Given the description of an element on the screen output the (x, y) to click on. 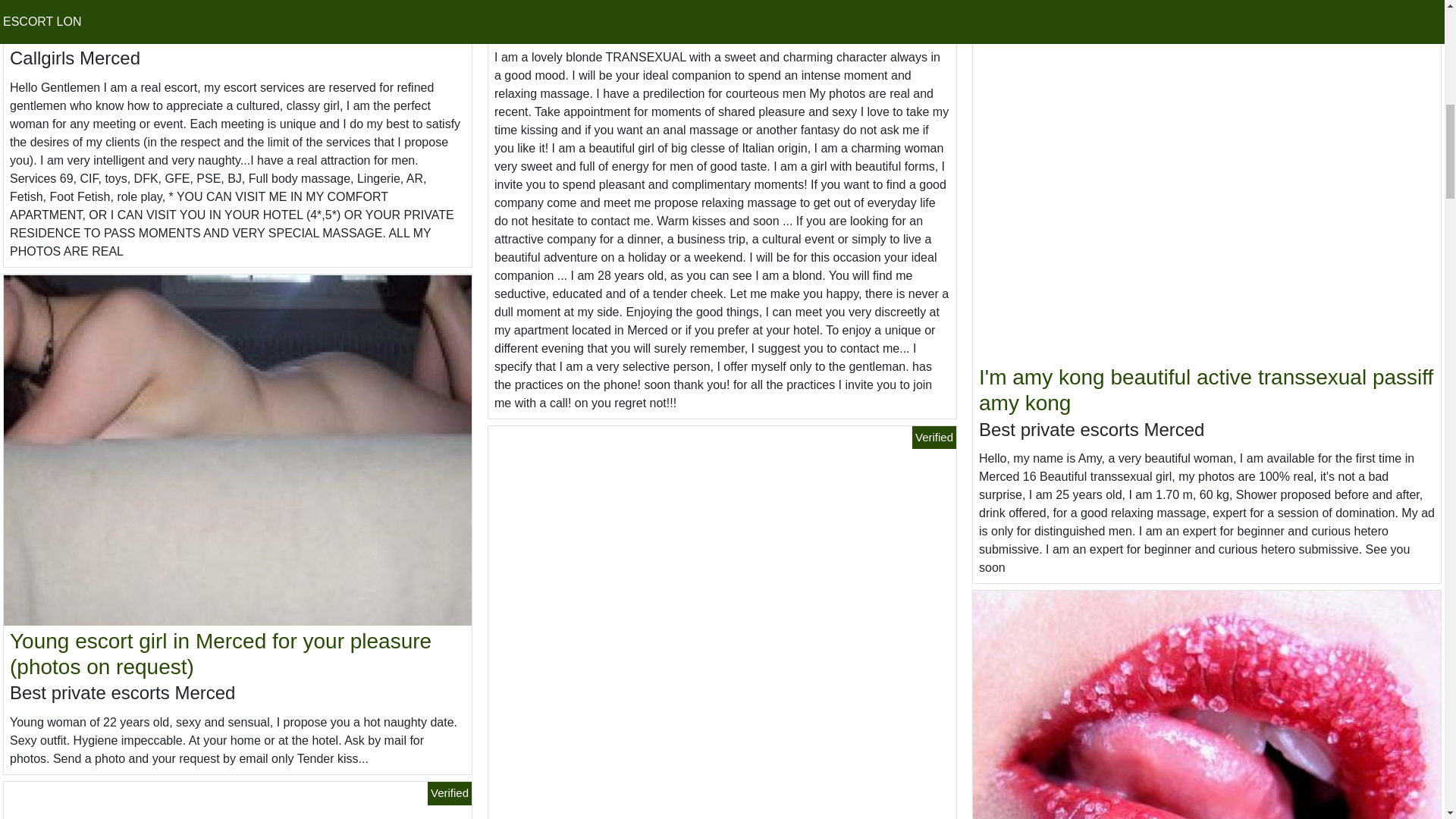
Aline the Brazilian bomb (609, 6)
Paula domina erotika (109, 31)
I'm amy kong beautiful active transsexual passiff amy kong (1205, 389)
